Given the description of an element on the screen output the (x, y) to click on. 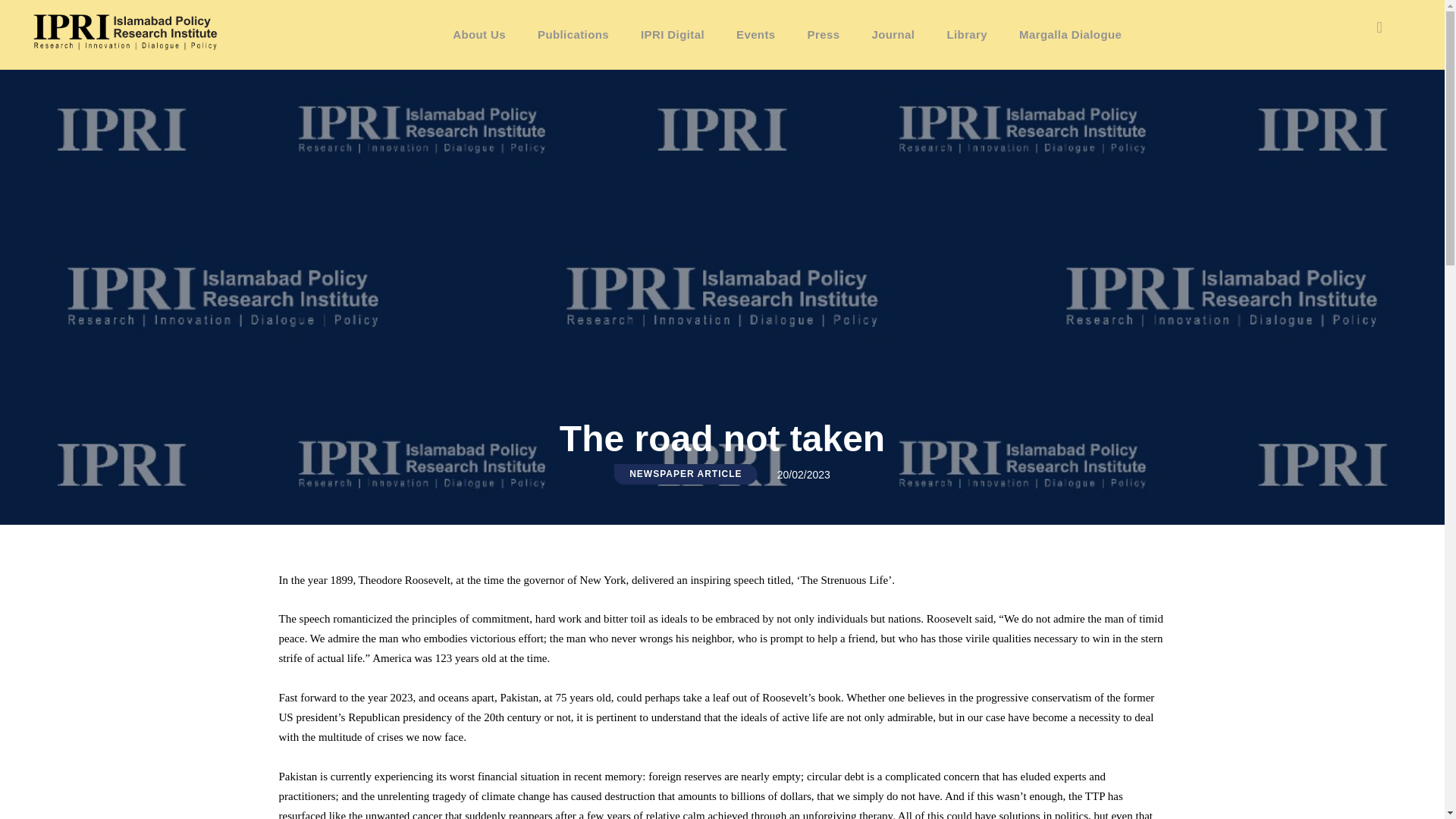
Journal (893, 34)
About Us (478, 34)
Publications (572, 34)
Margalla Dialogue (1070, 34)
Events (756, 34)
Library (966, 34)
IPRI Digital (672, 34)
Press (824, 34)
